Given the description of an element on the screen output the (x, y) to click on. 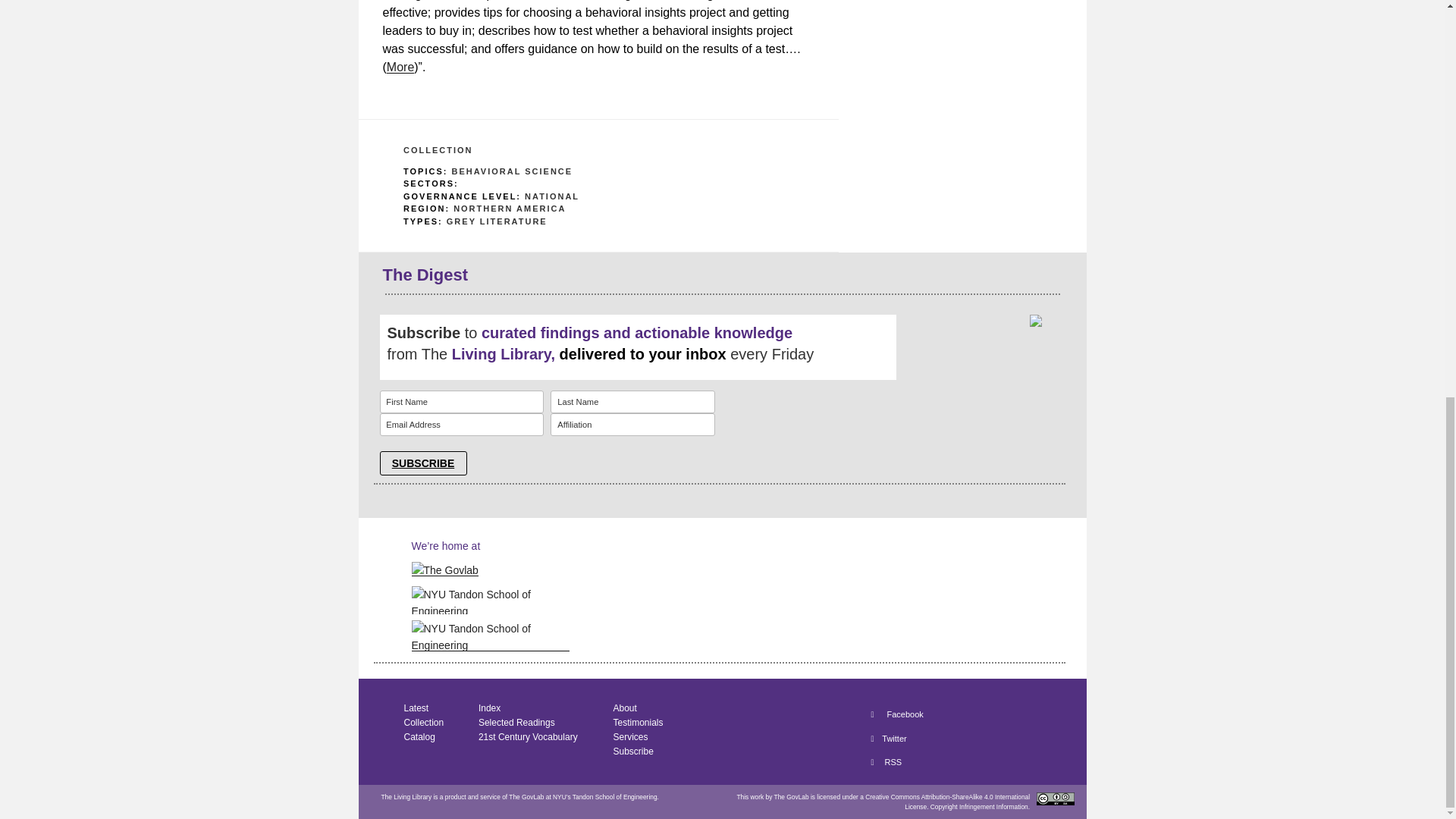
More (400, 66)
NATIONAL (551, 194)
SUBSCRIBE (421, 463)
GREY LITERATURE (496, 221)
BEHAVIORAL SCIENCE (511, 171)
COLLECTION (438, 149)
SUBSCRIBE (421, 463)
NORTHERN AMERICA (509, 207)
